Given the description of an element on the screen output the (x, y) to click on. 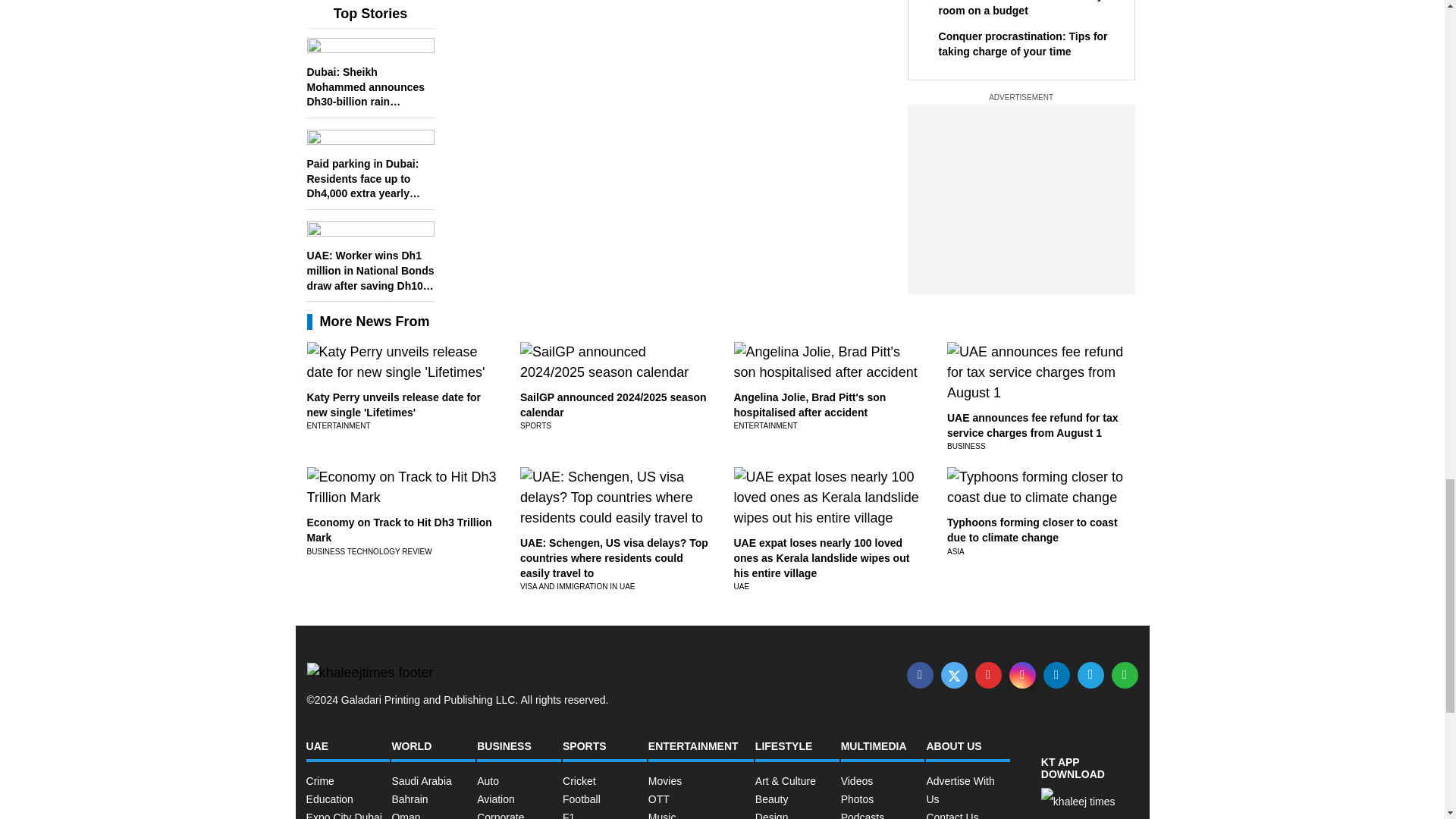
Typhoons forming closer to coast due to climate change (1032, 529)
Katy Perry unveils release date for new single 'Lifetimes' (392, 404)
Economy on Track to Hit Dh3 Trillion Mark (398, 529)
Angelina Jolie, Brad Pitt's son hospitalised after accident (809, 404)
